Given the description of an element on the screen output the (x, y) to click on. 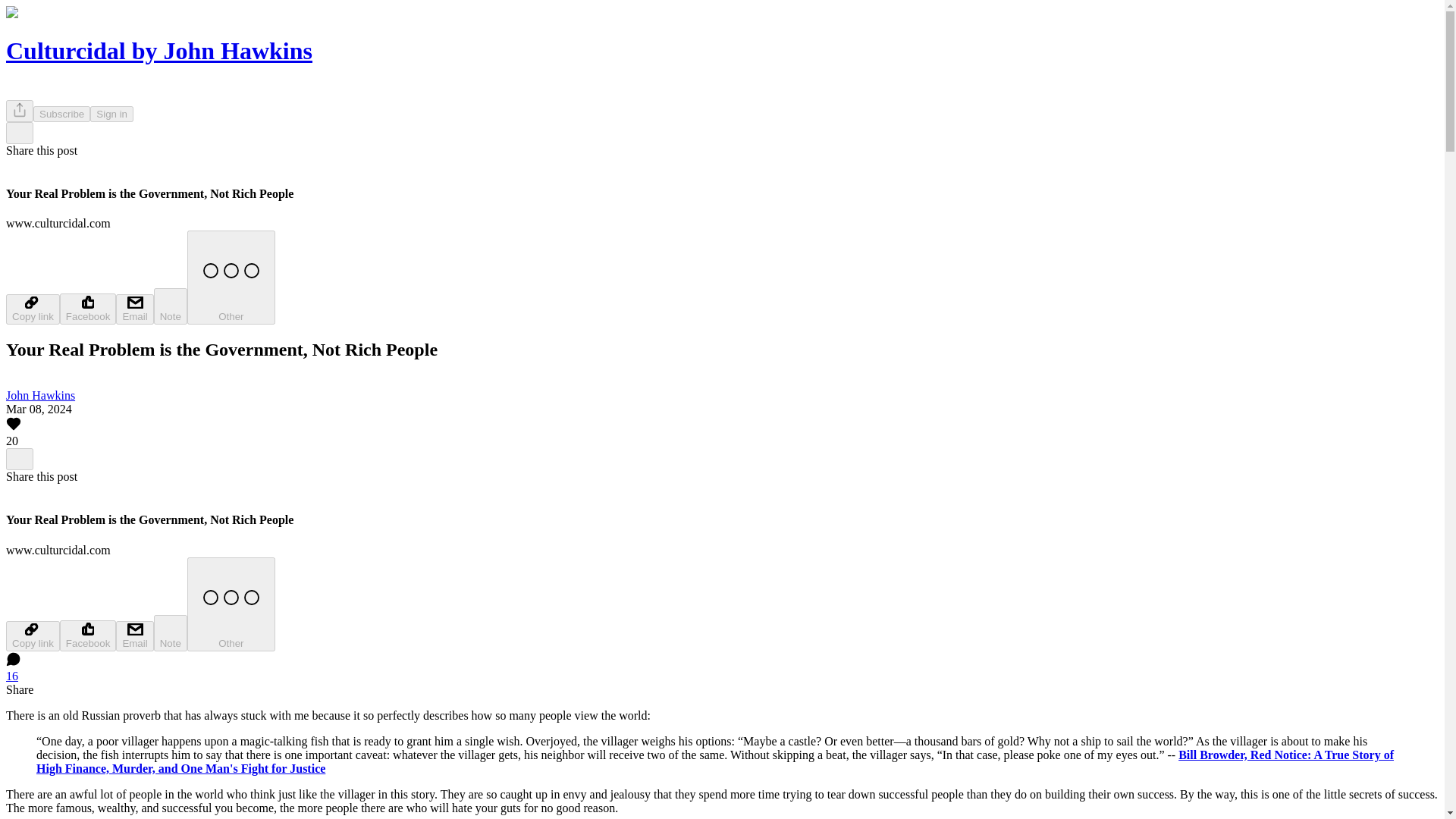
Other (231, 277)
Facebook (87, 635)
Subscribe (61, 114)
Sign in (111, 114)
Copy link (32, 635)
Note (170, 306)
Email (134, 635)
Note (170, 633)
John Hawkins (40, 395)
Other (231, 604)
Facebook (87, 308)
Copy link (32, 309)
Culturcidal by John Hawkins (159, 50)
Email (134, 309)
